Given the description of an element on the screen output the (x, y) to click on. 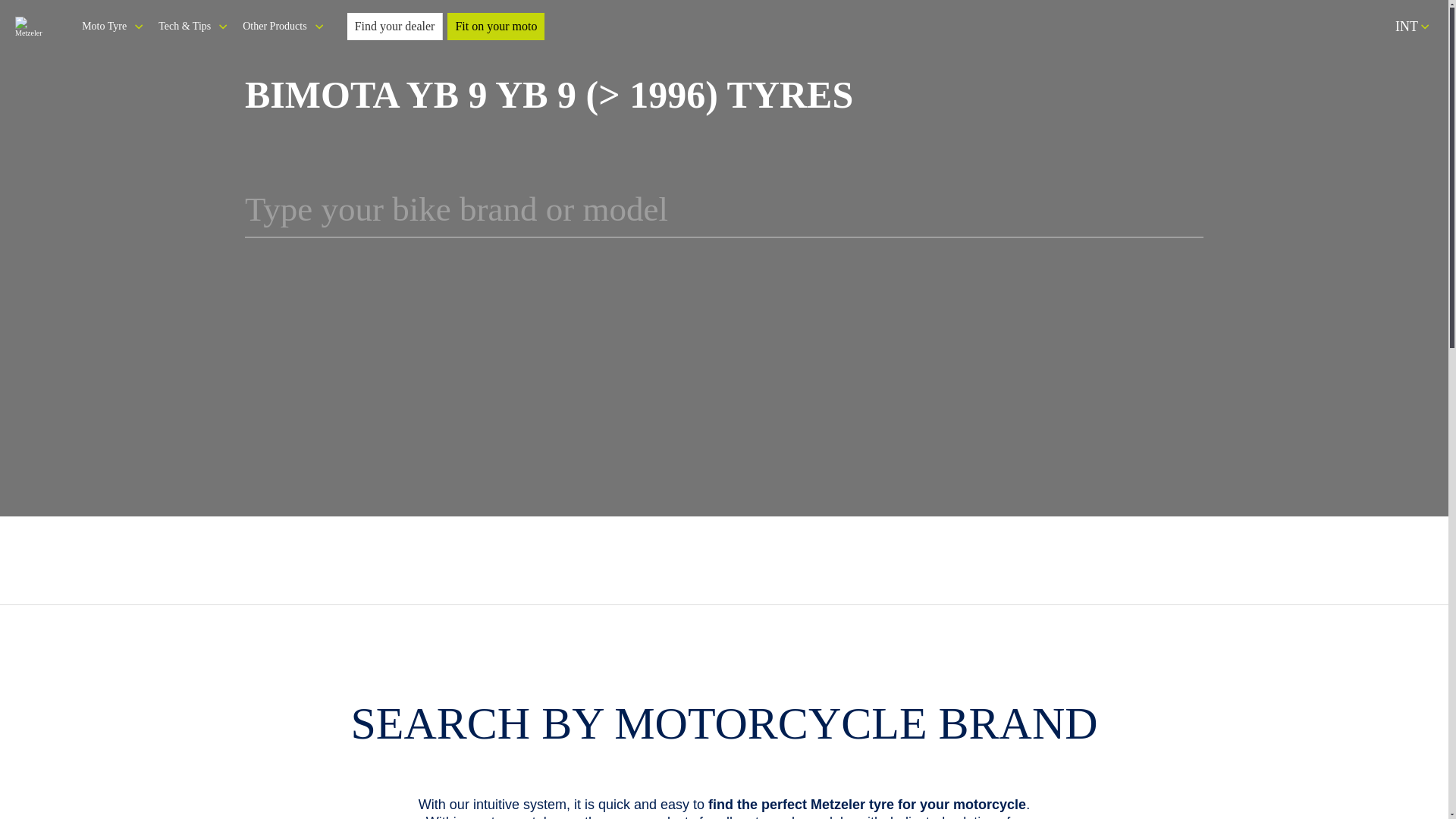
Moto Tyre (112, 26)
Moto Tyre (112, 26)
Other Products (282, 26)
Other Products (282, 26)
Find your dealer (395, 26)
Metzeler (32, 26)
INT (1411, 25)
